Given the description of an element on the screen output the (x, y) to click on. 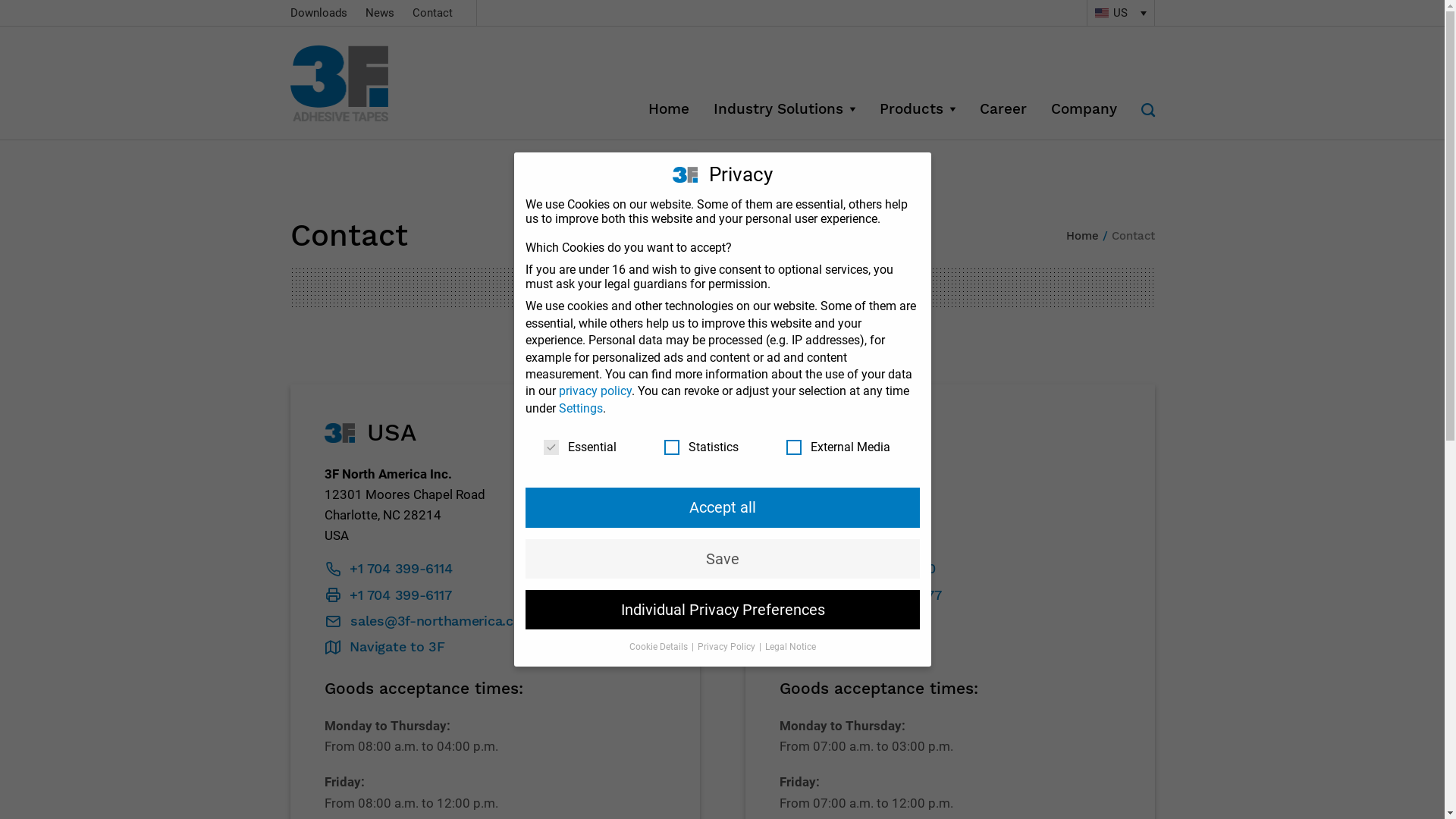
Industry Solutions Element type: text (783, 109)
+1 704 399-6114 Element type: text (389, 569)
+49 (0)7181 93807-0 Element type: text (858, 569)
Navigate to 3F Element type: text (840, 647)
Individual Privacy Preferences Element type: text (721, 609)
Cookie Details Element type: text (659, 646)
US Element type: text (1119, 12)
Save Element type: text (721, 557)
Home Element type: text (1082, 235)
Downloads Element type: text (317, 12)
Company Element type: text (1083, 109)
privacy policy Element type: text (594, 390)
Accept all Element type: text (721, 507)
sales@3f-northamerica.com Element type: text (430, 621)
Contact Element type: text (432, 12)
Settings Element type: text (580, 408)
Home Element type: text (667, 109)
Products Element type: text (917, 109)
Navigate to 3F Element type: text (385, 647)
+49 (0)7181 93807-77 Element type: text (861, 595)
Career Element type: text (1002, 109)
Legal Notice Element type: text (789, 646)
News Element type: text (379, 12)
Privacy Policy Element type: text (727, 646)
+1 704 399-6117 Element type: text (389, 595)
3F GmbH Element type: hover (357, 83)
info@3f-gmbh.de Element type: text (849, 621)
